Given the description of an element on the screen output the (x, y) to click on. 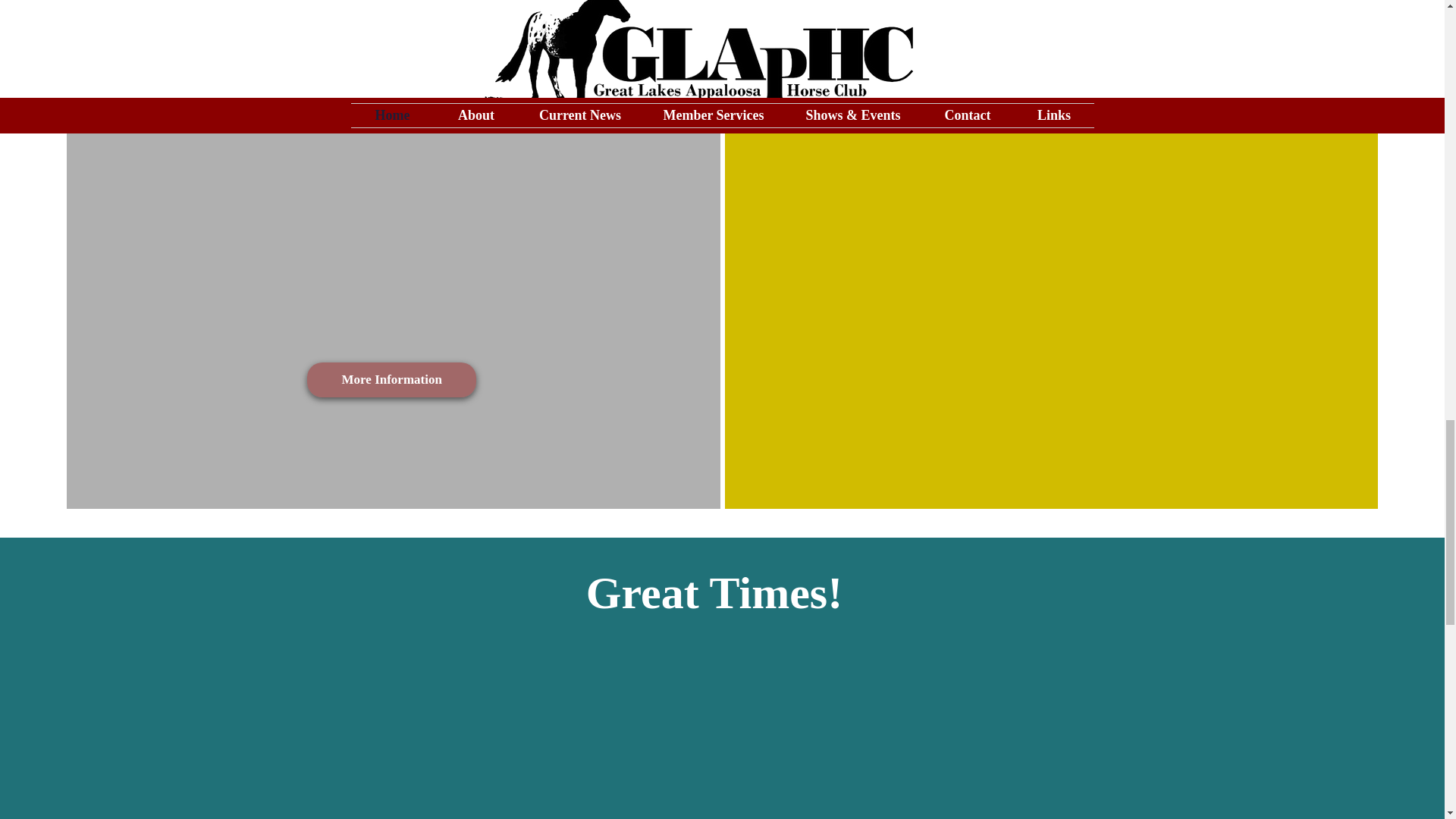
More Information (391, 379)
